Given the description of an element on the screen output the (x, y) to click on. 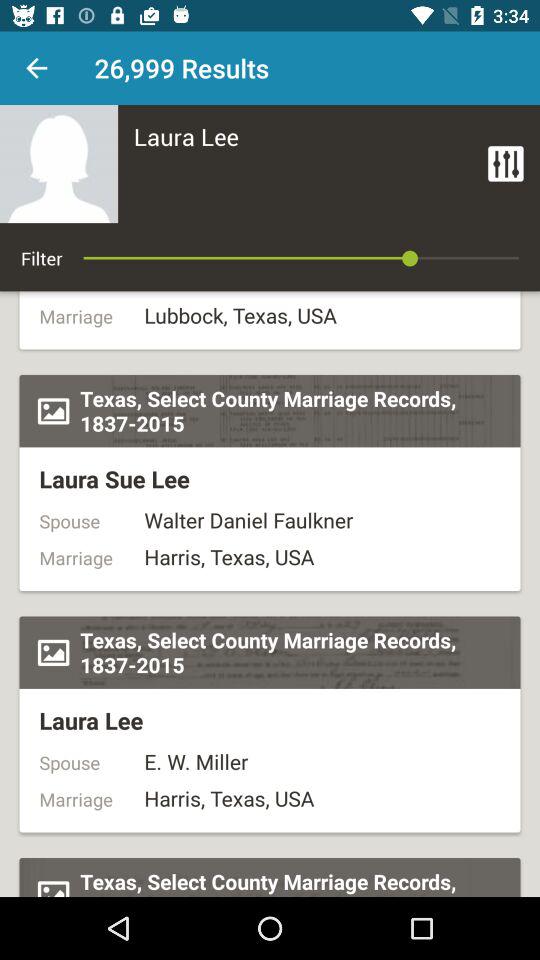
launch icon next to the 26,999 results item (36, 68)
